Given the description of an element on the screen output the (x, y) to click on. 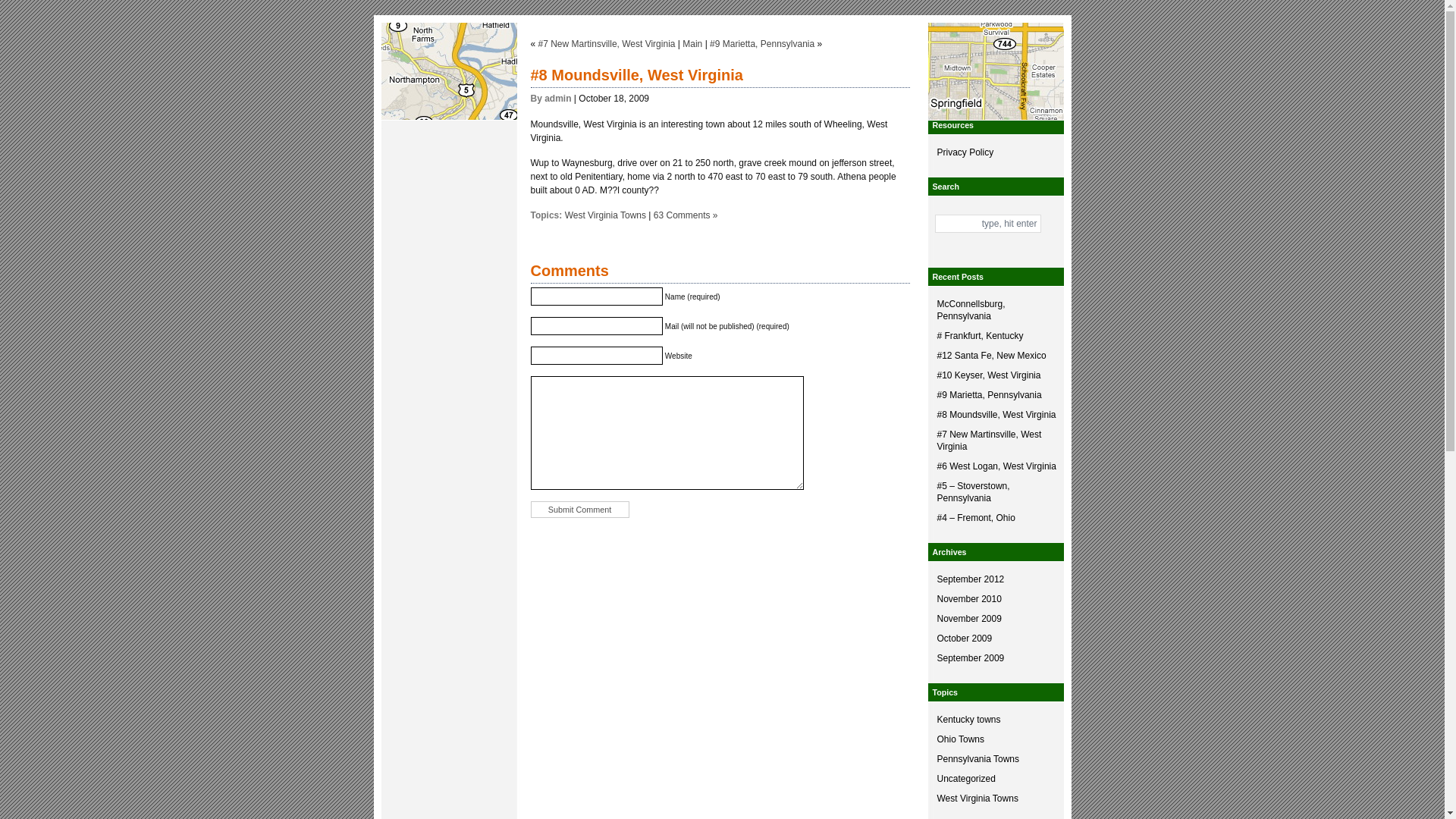
September 2009 Element type: text (995, 658)
Ohio Towns Element type: text (995, 739)
#9 Marietta, Pennsylvania Element type: text (995, 394)
#7 New Martinsville, West Virginia Element type: text (995, 440)
#6 West Logan, West Virginia Element type: text (995, 466)
Find Element type: text (948, 239)
#7 New Martinsville, West Virginia Element type: text (606, 43)
#8 Moundsville, West Virginia Element type: text (636, 74)
#8 Moundsville, West Virginia Element type: text (995, 414)
McConnellsburg, Pennsylvania Element type: text (995, 310)
October 2009 Element type: text (995, 638)
Main Element type: text (692, 43)
Advertisement Element type: hover (448, 373)
Privacy Policy Element type: text (995, 152)
September 2012 Element type: text (995, 579)
#9 Marietta, Pennsylvania Element type: text (761, 43)
Uncategorized Element type: text (995, 778)
Pennsylvania Towns Element type: text (995, 758)
Kentucky towns Element type: text (995, 719)
November 2009 Element type: text (995, 618)
November 2010 Element type: text (995, 598)
#12 Santa Fe, New Mexico Element type: text (995, 355)
#10 Keyser, West Virginia Element type: text (995, 375)
# Frankfurt, Kentucky Element type: text (995, 335)
West Virginia Towns Element type: text (605, 215)
Submit Comment Element type: text (579, 509)
West Virginia Towns Element type: text (995, 798)
